Given the description of an element on the screen output the (x, y) to click on. 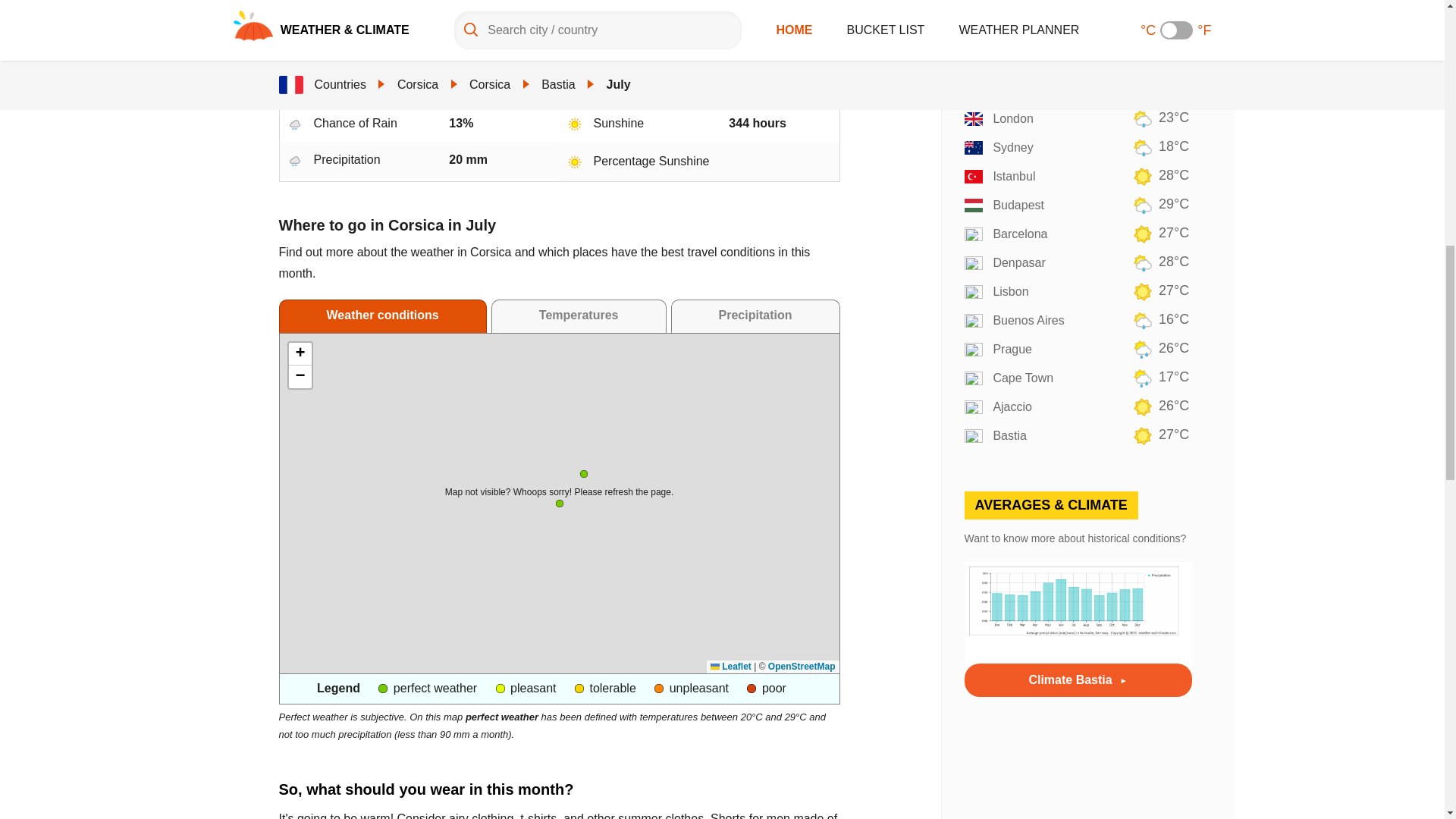
A JavaScript library for interactive maps (730, 665)
Zoom out (299, 376)
Zoom in (299, 354)
